Given the description of an element on the screen output the (x, y) to click on. 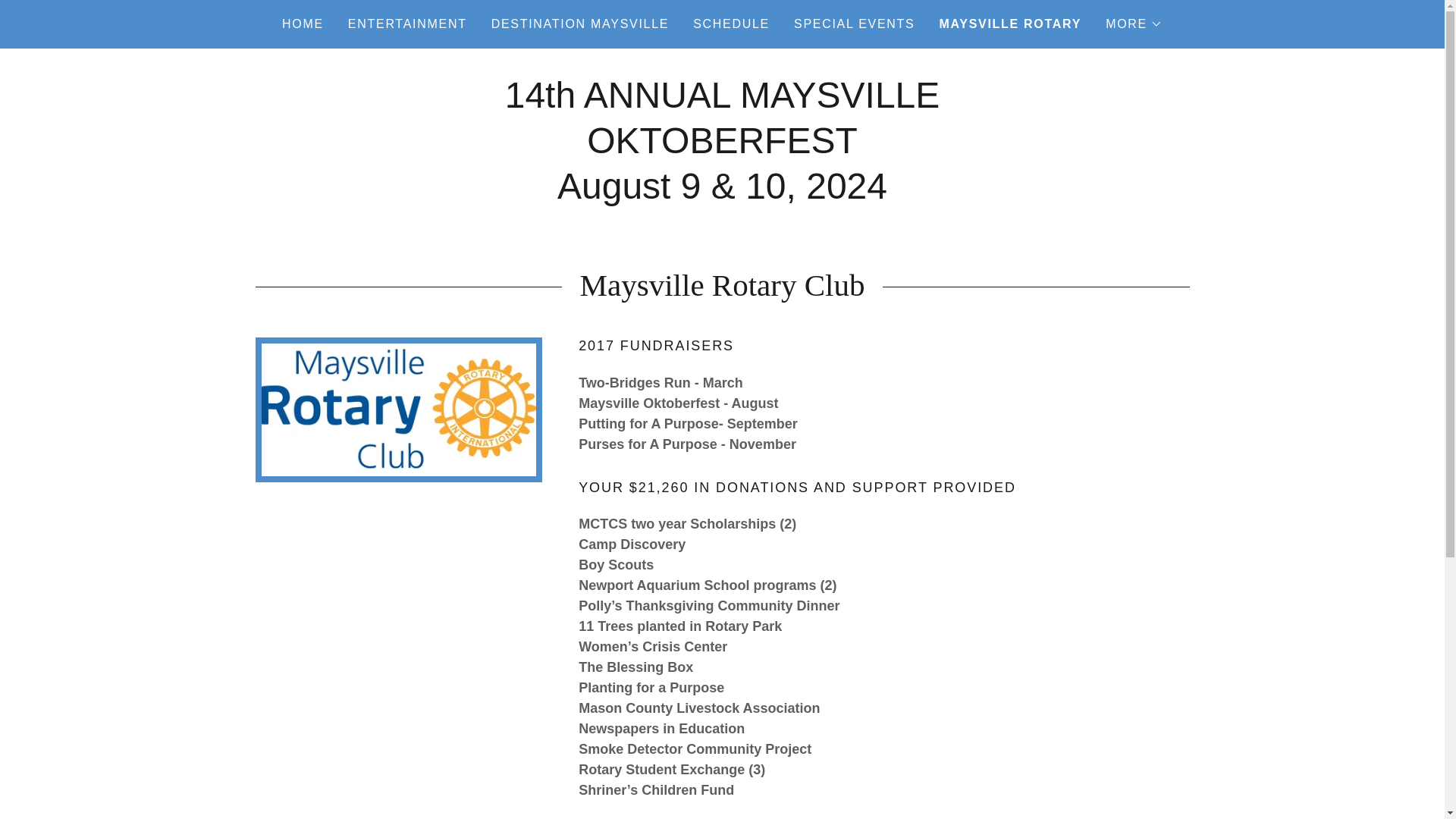
HOME (303, 23)
MORE (1133, 24)
ENTERTAINMENT (407, 23)
DESTINATION MAYSVILLE (580, 23)
SPECIAL EVENTS (853, 23)
MAYSVILLE ROTARY (1010, 24)
SCHEDULE (731, 23)
